Given the description of an element on the screen output the (x, y) to click on. 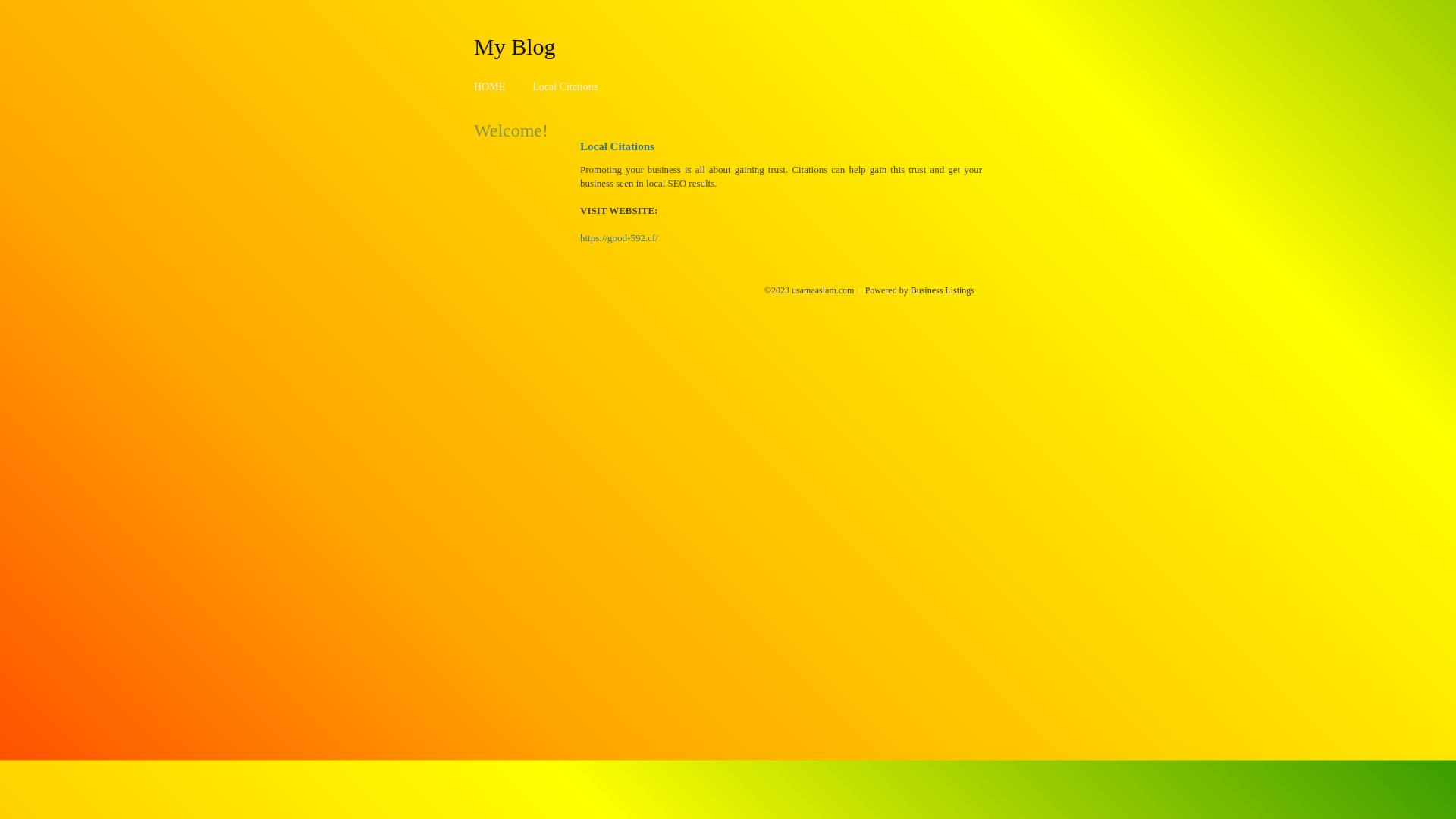
Business Listings Element type: text (942, 290)
My Blog Element type: text (514, 46)
Local Citations Element type: text (564, 86)
HOME Element type: text (489, 86)
https://good-592.cf/ Element type: text (619, 237)
